Given the description of an element on the screen output the (x, y) to click on. 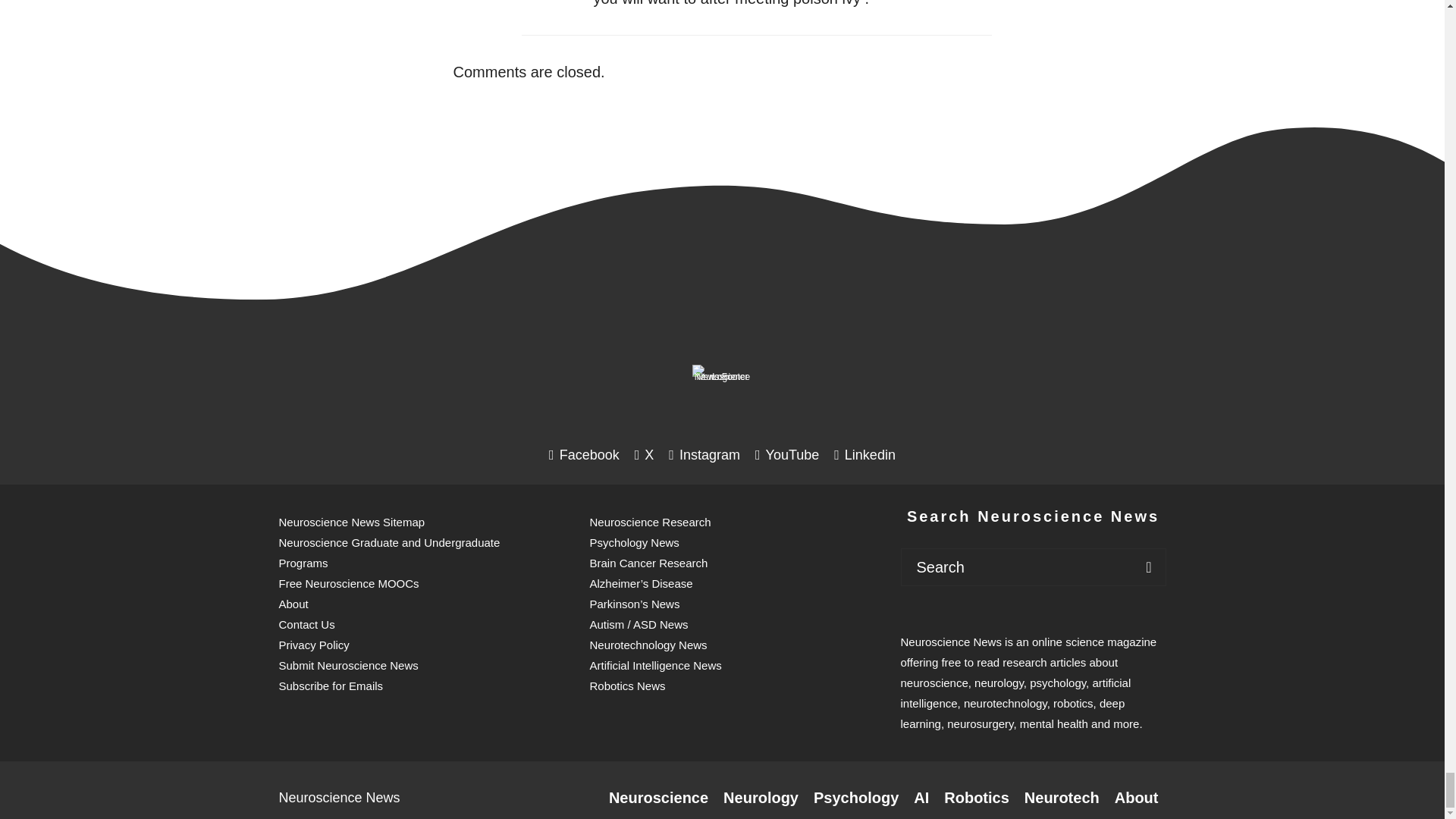
Psychology Research Articles (855, 797)
Neurology Research Articles (760, 797)
Neuroscience Research (657, 797)
